Given the description of an element on the screen output the (x, y) to click on. 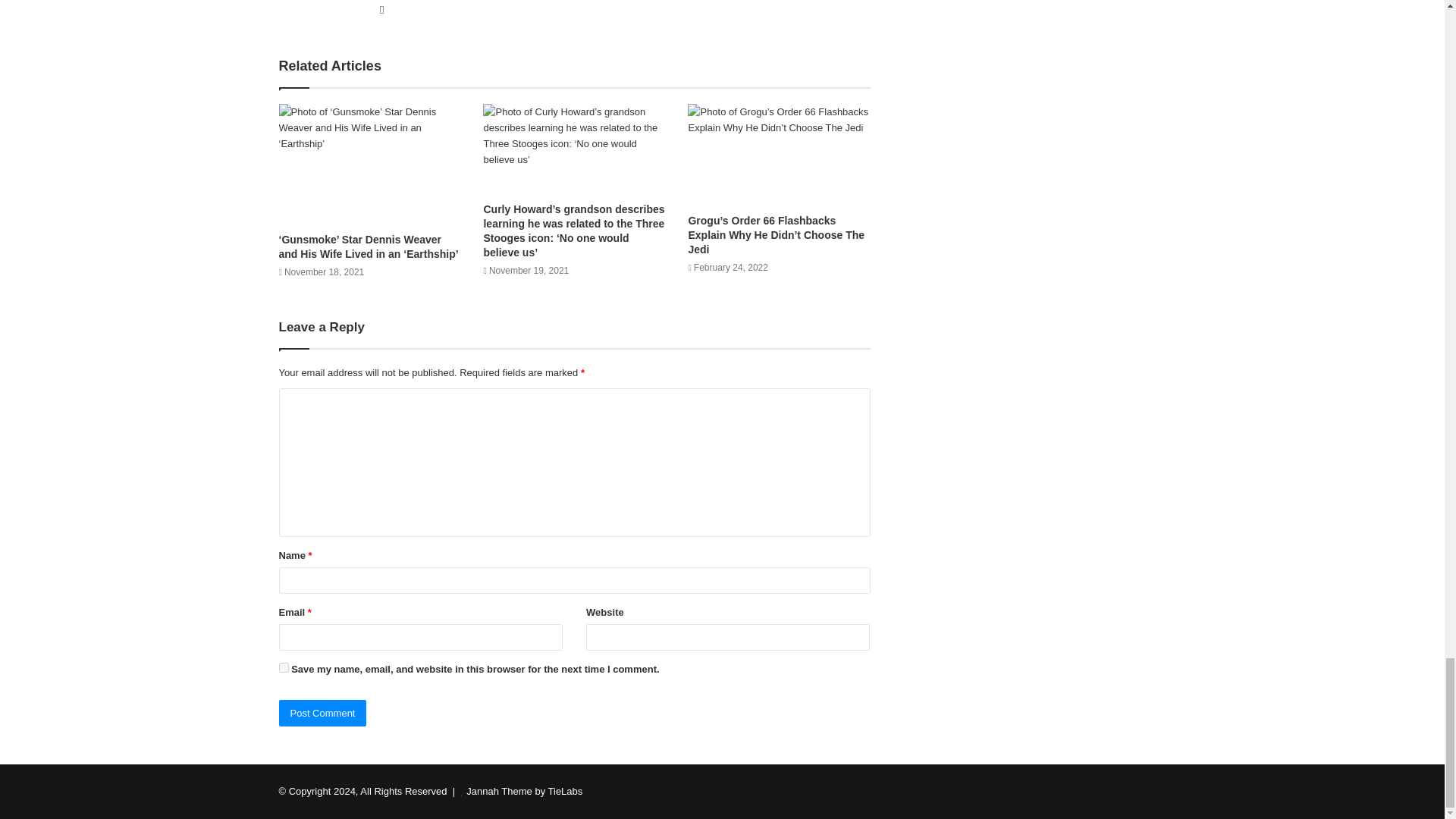
yes (283, 667)
Website (381, 9)
Post Comment (322, 713)
